Given the description of an element on the screen output the (x, y) to click on. 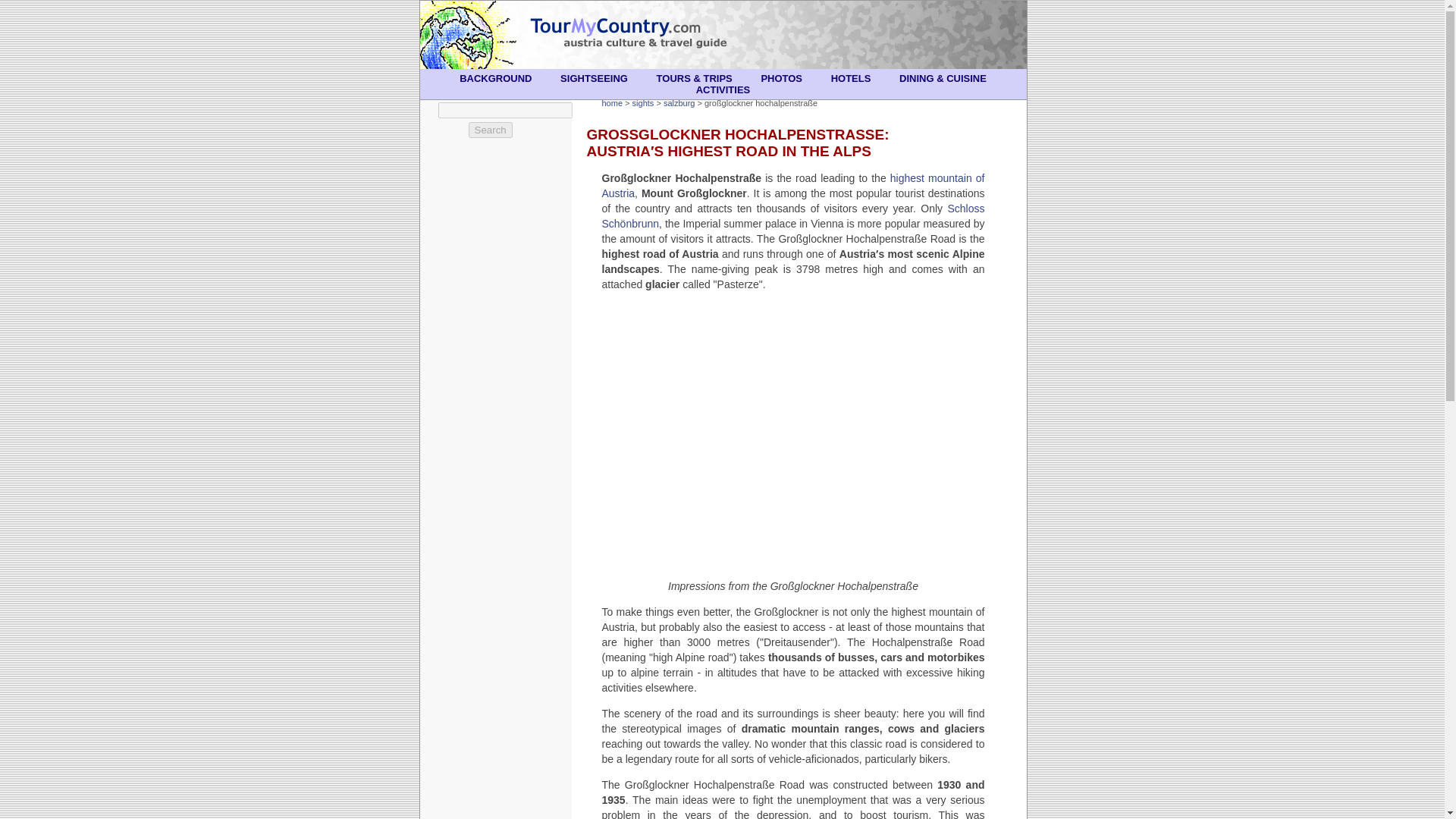
highest mountain of Austria (793, 185)
HOTELS (851, 78)
Search (490, 130)
home (612, 102)
sights (642, 102)
salzburg (679, 102)
SIGHTSEEING (594, 78)
ACTIVITIES (723, 89)
BACKGROUND (494, 78)
PHOTOS (780, 78)
